Given the description of an element on the screen output the (x, y) to click on. 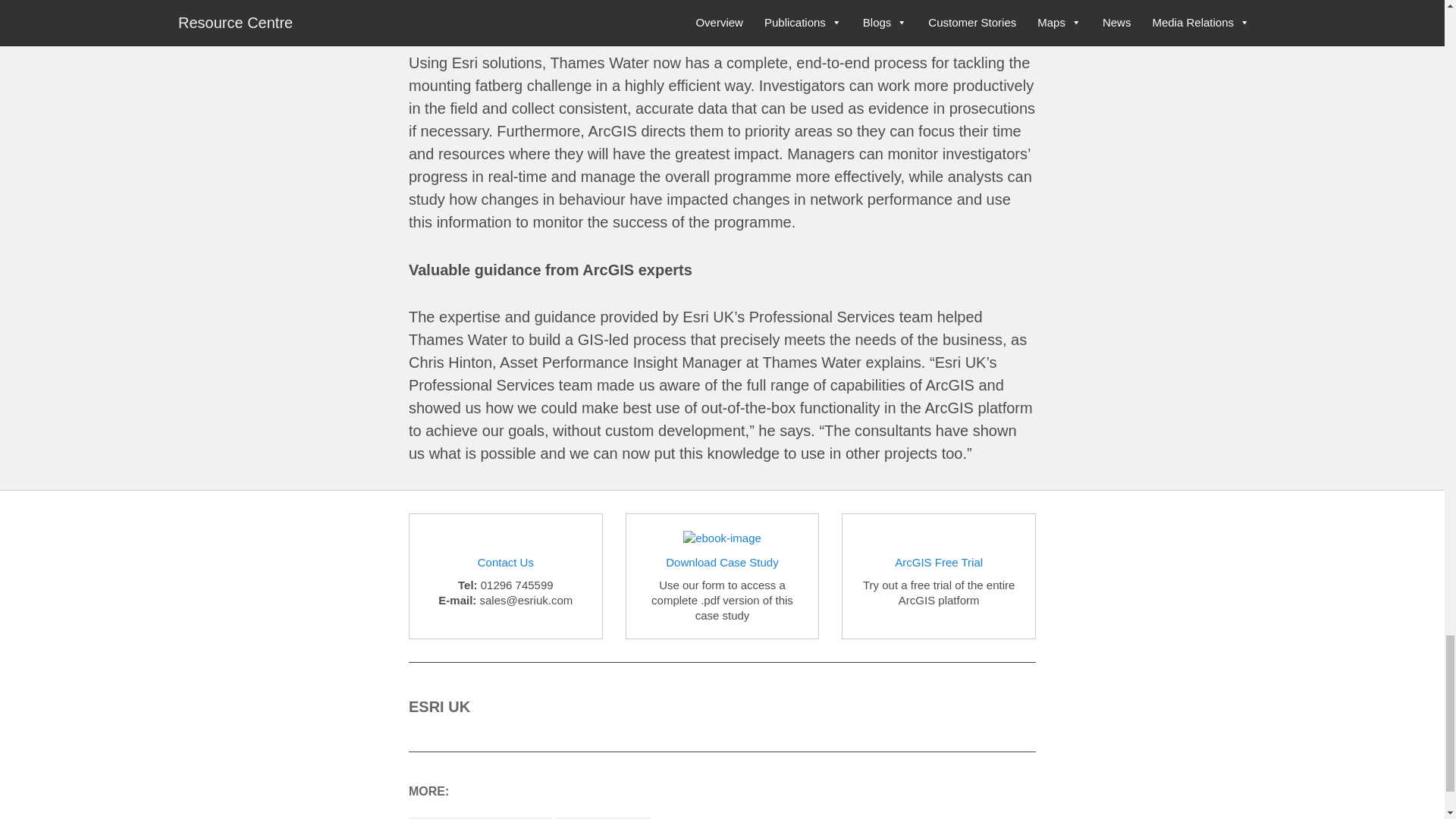
Contact Us (505, 562)
operational efficiency (480, 818)
sustainability (602, 818)
ArcGIS Free Trial (938, 562)
Download Case Study (721, 562)
